Given the description of an element on the screen output the (x, y) to click on. 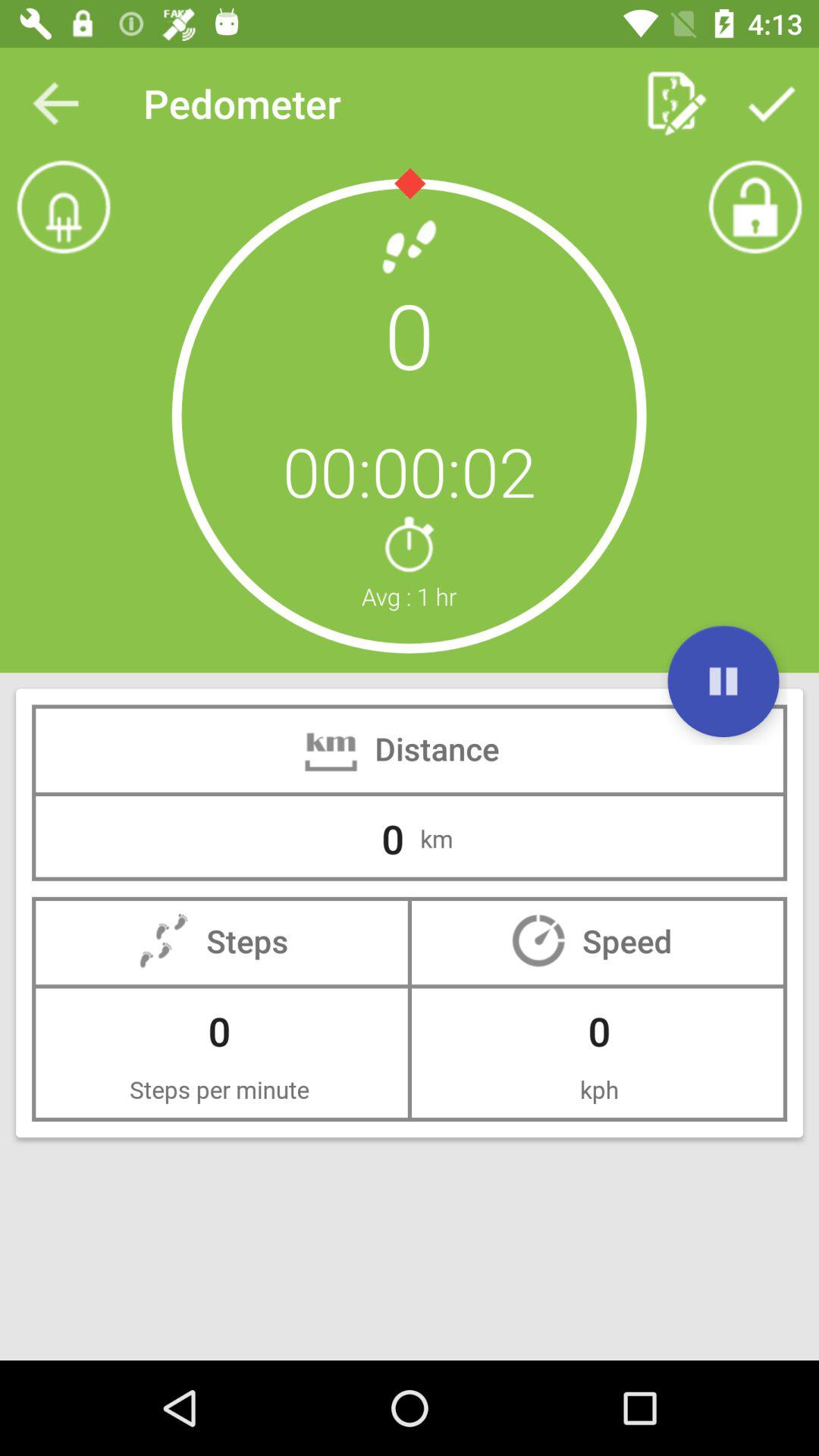
open the item to the left of the pedometer item (55, 103)
